Given the description of an element on the screen output the (x, y) to click on. 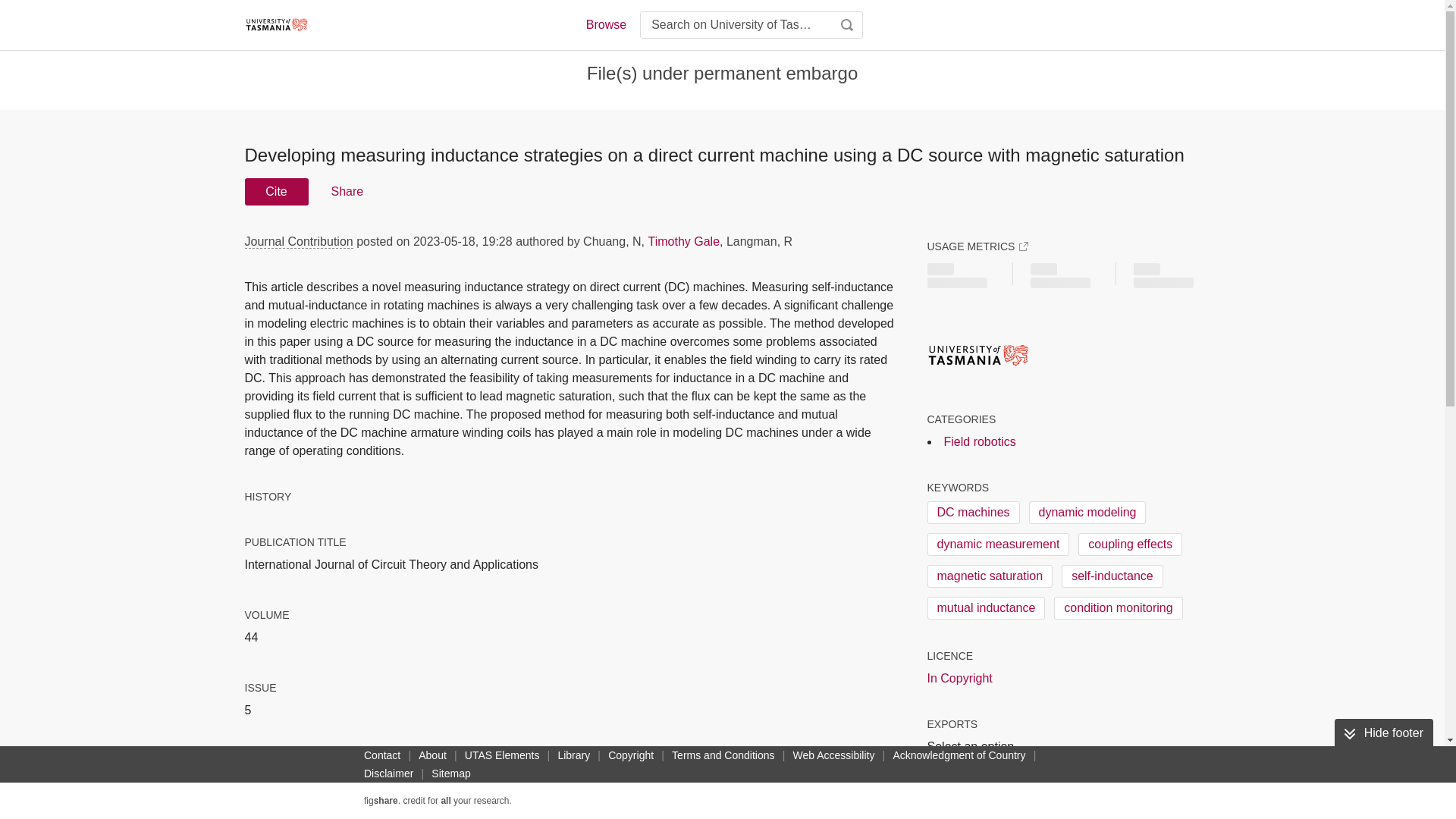
About (432, 755)
UTAS Elements (502, 755)
Cite (275, 191)
condition monitoring (1118, 608)
Acknowledgment of Country (958, 755)
Hide footer (1383, 733)
mutual inductance (985, 608)
magnetic saturation (989, 576)
Browse (605, 24)
In Copyright (958, 678)
